Given the description of an element on the screen output the (x, y) to click on. 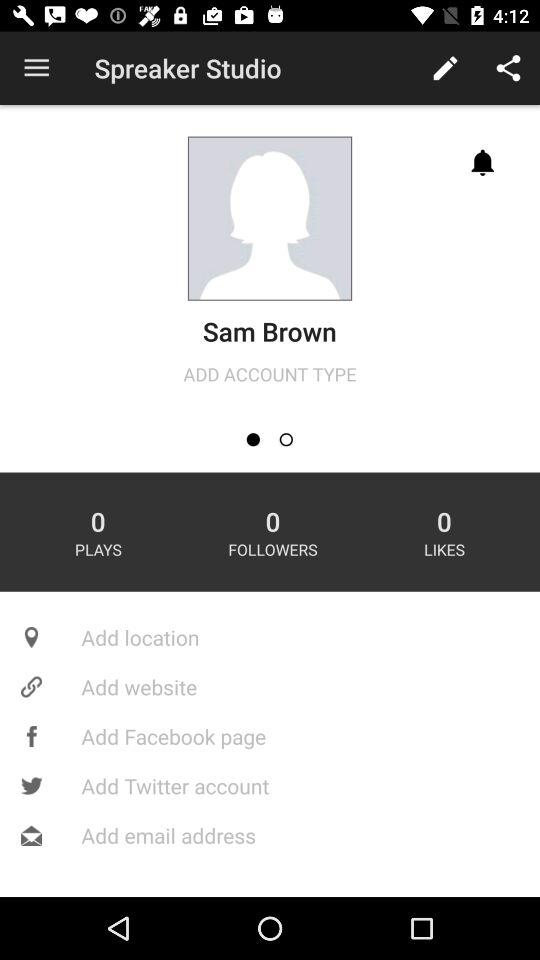
press the add website icon (270, 686)
